Given the description of an element on the screen output the (x, y) to click on. 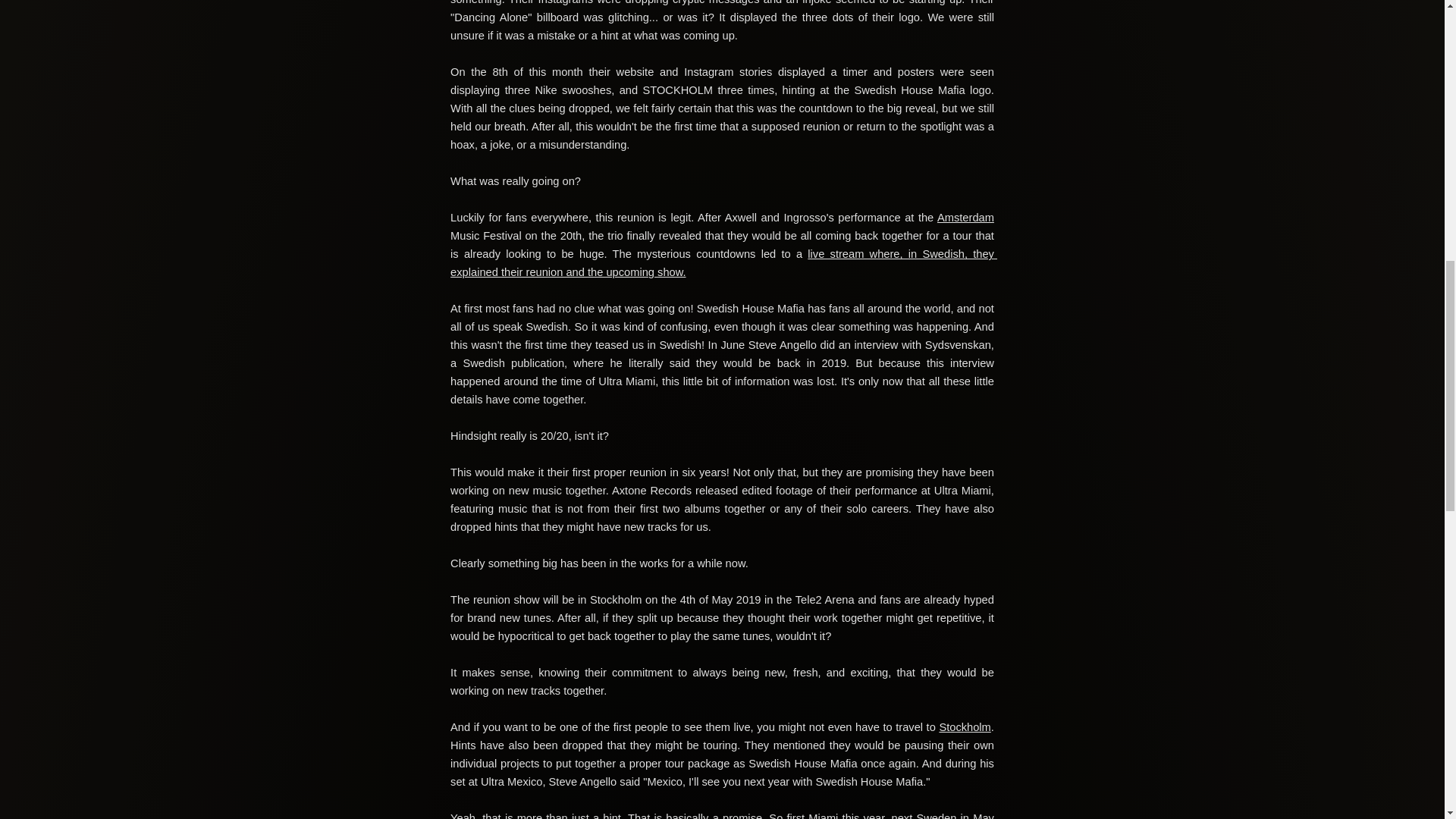
Stockholm (964, 727)
Miami (823, 815)
Amsterdam (965, 217)
